Given the description of an element on the screen output the (x, y) to click on. 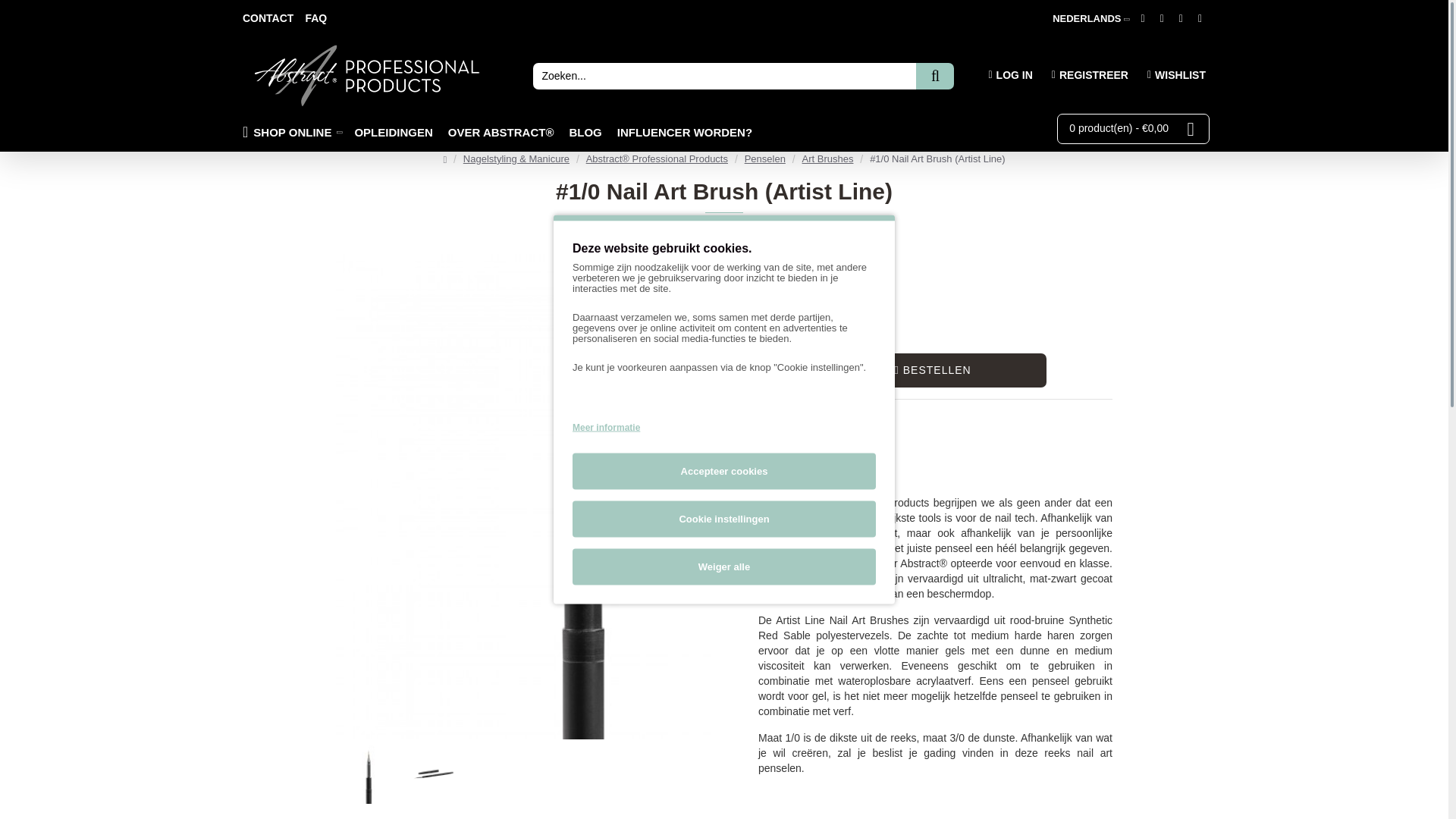
INFLUENCER WORDEN? (683, 132)
Penselen (765, 159)
1 (780, 369)
CONTACT (267, 18)
Art Brushes (827, 159)
LOG IN (1005, 75)
OPLEIDINGEN (397, 132)
NEDERLANDS (1086, 19)
BLOG (588, 132)
SHOP ONLINE (294, 132)
